Given the description of an element on the screen output the (x, y) to click on. 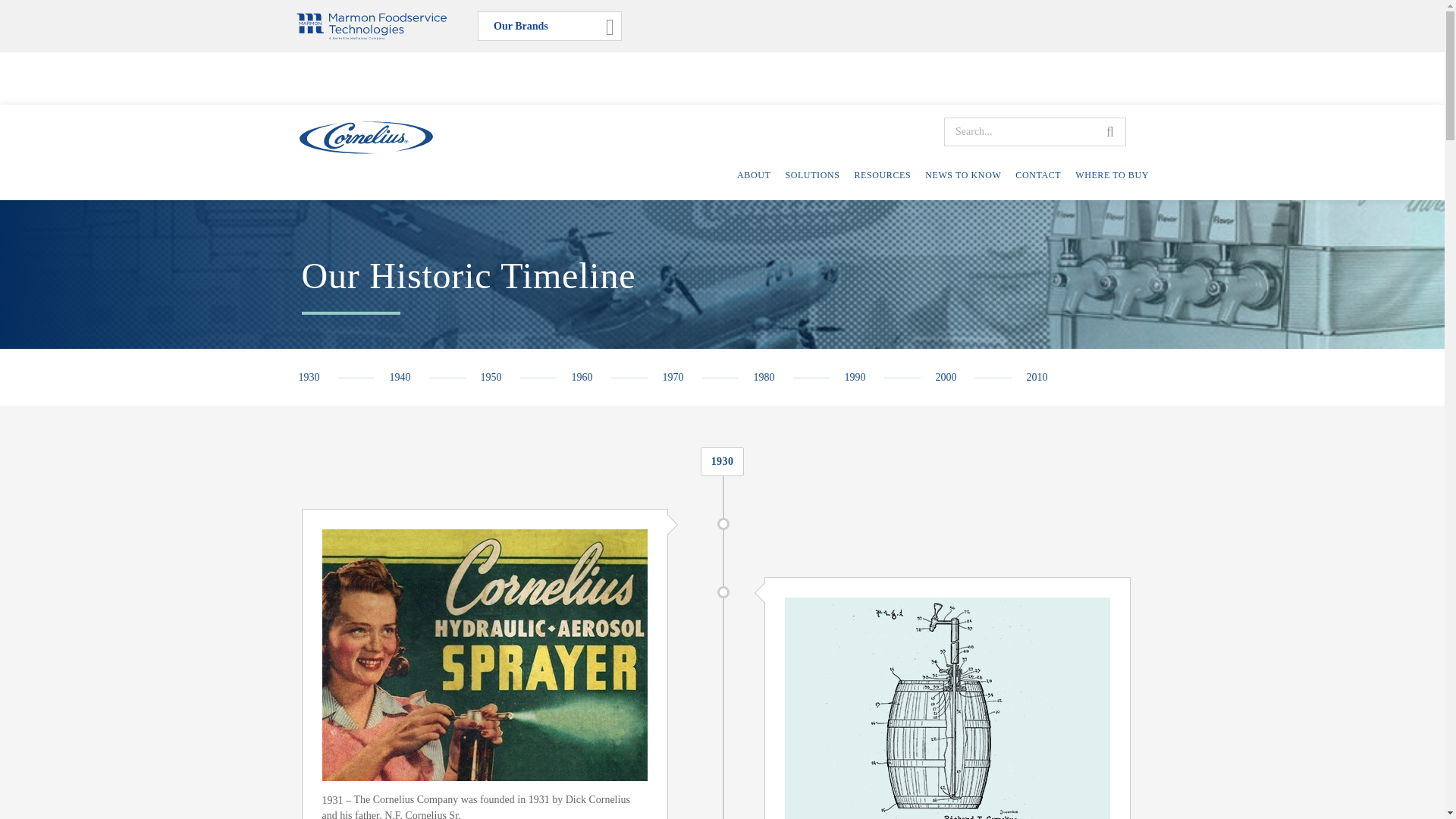
SOLUTIONS (812, 174)
WHERE TO BUY (1111, 174)
CONTACT (1037, 174)
ABOUT (753, 174)
NEWS TO KNOW (962, 174)
RESOURCES (882, 174)
